Given the description of an element on the screen output the (x, y) to click on. 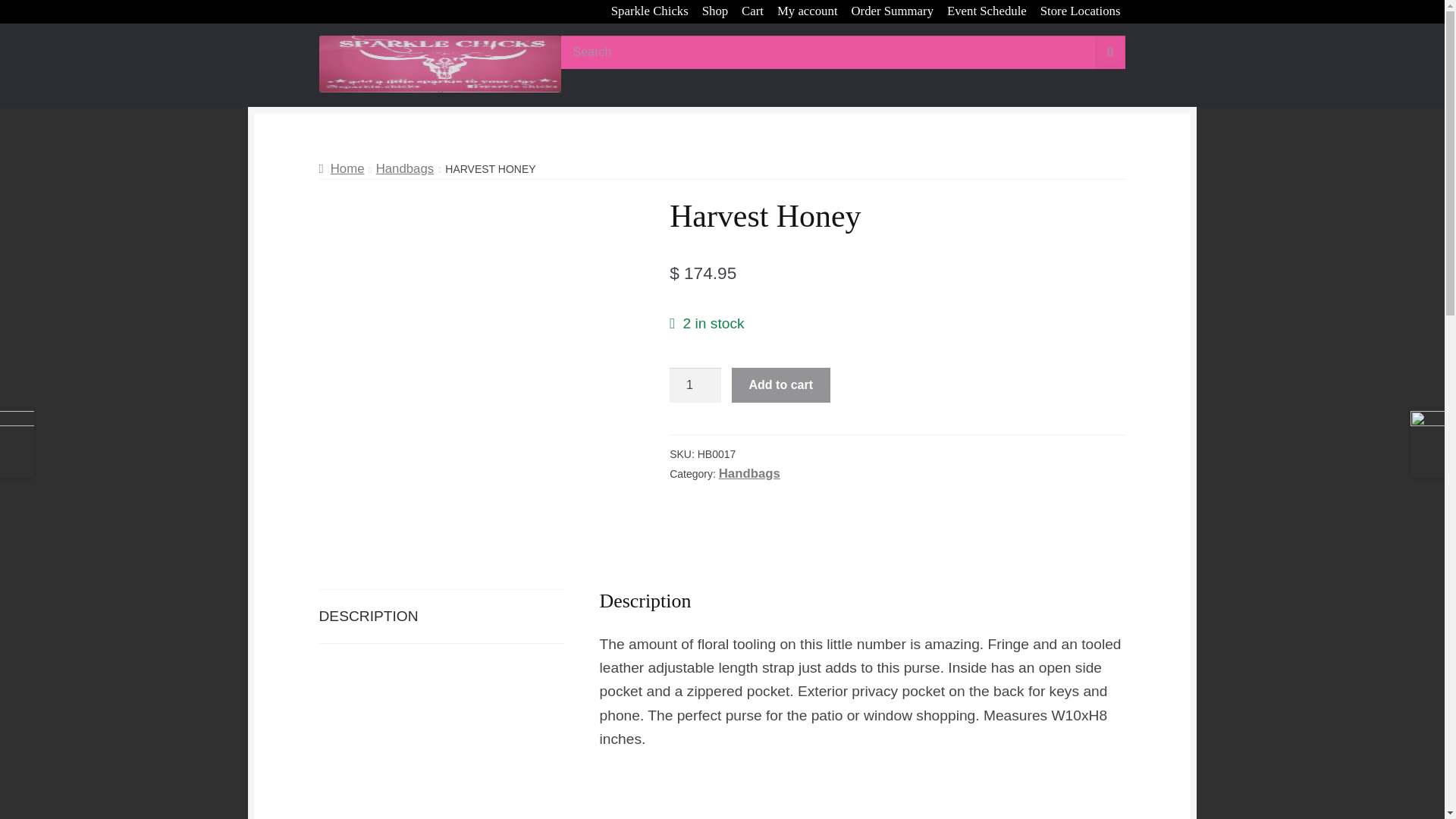
Handbags (404, 168)
Shop (715, 11)
Store Locations (1080, 11)
Event Schedule (987, 11)
Order Summary (892, 11)
Search for: (842, 52)
Sparkle Chicks (649, 11)
DESCRIPTION (441, 615)
1 (694, 384)
